Given the description of an element on the screen output the (x, y) to click on. 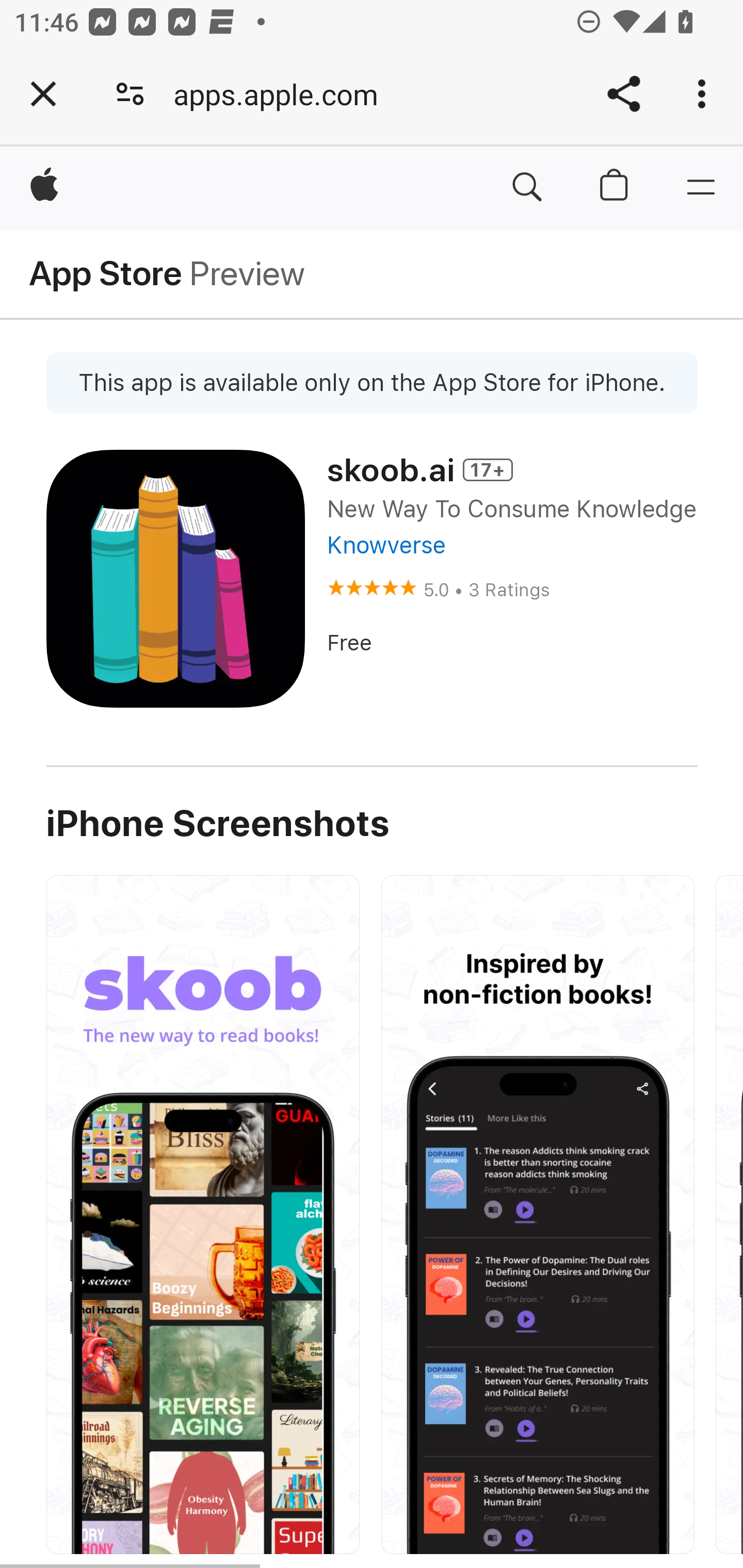
Close tab (43, 93)
Share (623, 93)
Customize and control Google Chrome (705, 93)
Connection is secure (129, 93)
apps.apple.com (282, 93)
Apple (45, 188)
Search apple.com (526, 188)
Shopping Bag (614, 188)
Menu (700, 188)
App Store (106, 274)
Knowverse (385, 544)
